Given the description of an element on the screen output the (x, y) to click on. 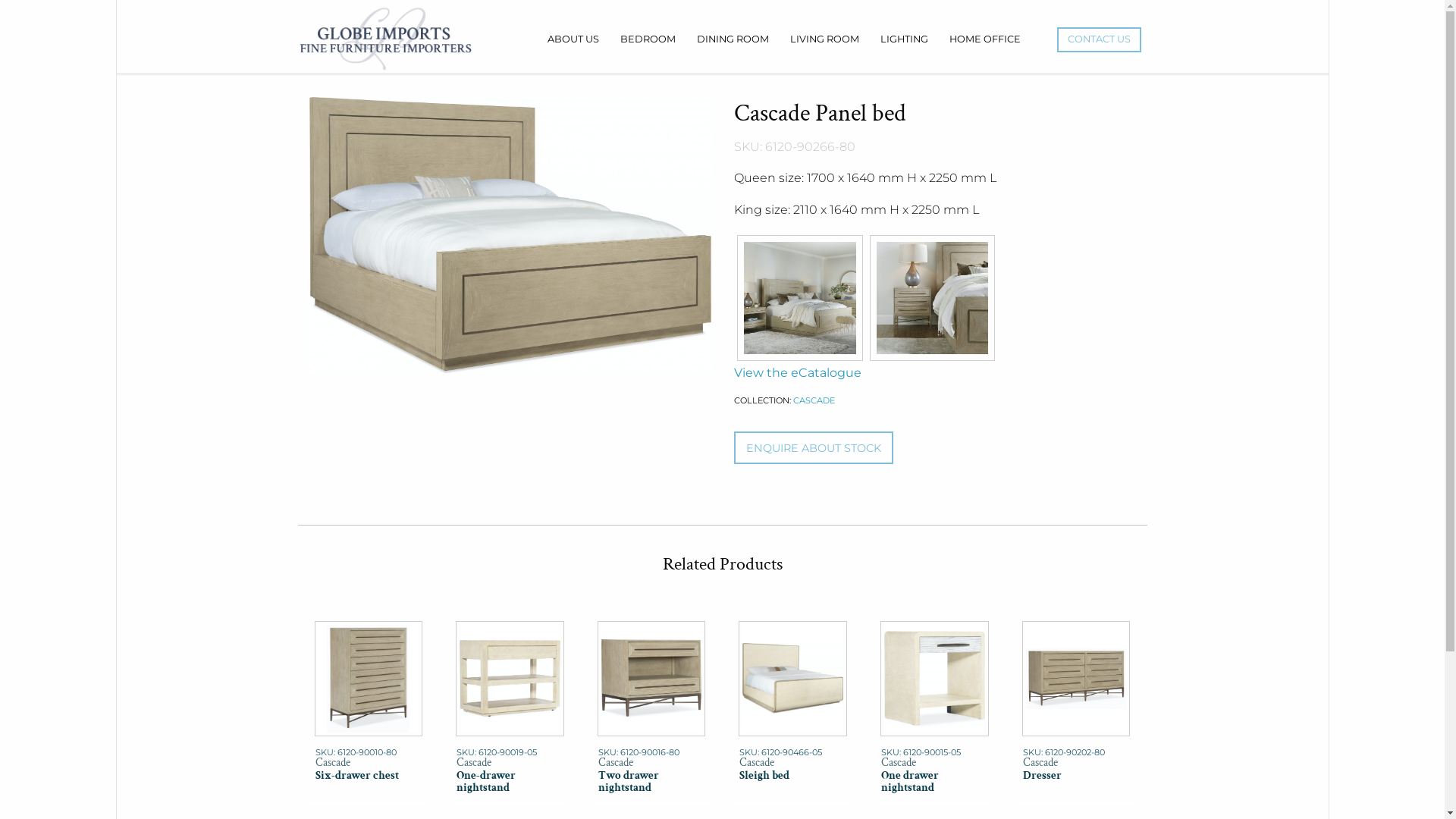
SKU: 6120-90010-80
Cascade
Six-drawer chest Element type: text (368, 710)
CASCADE Element type: text (813, 400)
Search Element type: text (82, 15)
LIVING ROOM Element type: text (824, 39)
SKU: 6120-90019-05
Cascade
One-drawer nightstand Element type: text (509, 710)
SKU: 6120-90015-05
Cascade
One drawer nightstand Element type: text (934, 710)
ENQUIRE ABOUT STOCK Element type: text (814, 447)
DINING ROOM Element type: text (732, 39)
HOME OFFICE Element type: text (984, 39)
LIGHTING Element type: text (903, 39)
View the eCatalogue Element type: text (934, 373)
BEDROOM Element type: text (647, 39)
ABOUT US Element type: text (573, 39)
SKU: 6120-90202-80
Cascade
Dresser Element type: text (1075, 710)
SKU: 6120-90016-80
Cascade
Two drawer nightstand Element type: text (651, 710)
SKU: 6120-90466-05
Cascade
Sleigh bed Element type: text (792, 710)
CONTACT US Element type: text (1099, 39)
